Given the description of an element on the screen output the (x, y) to click on. 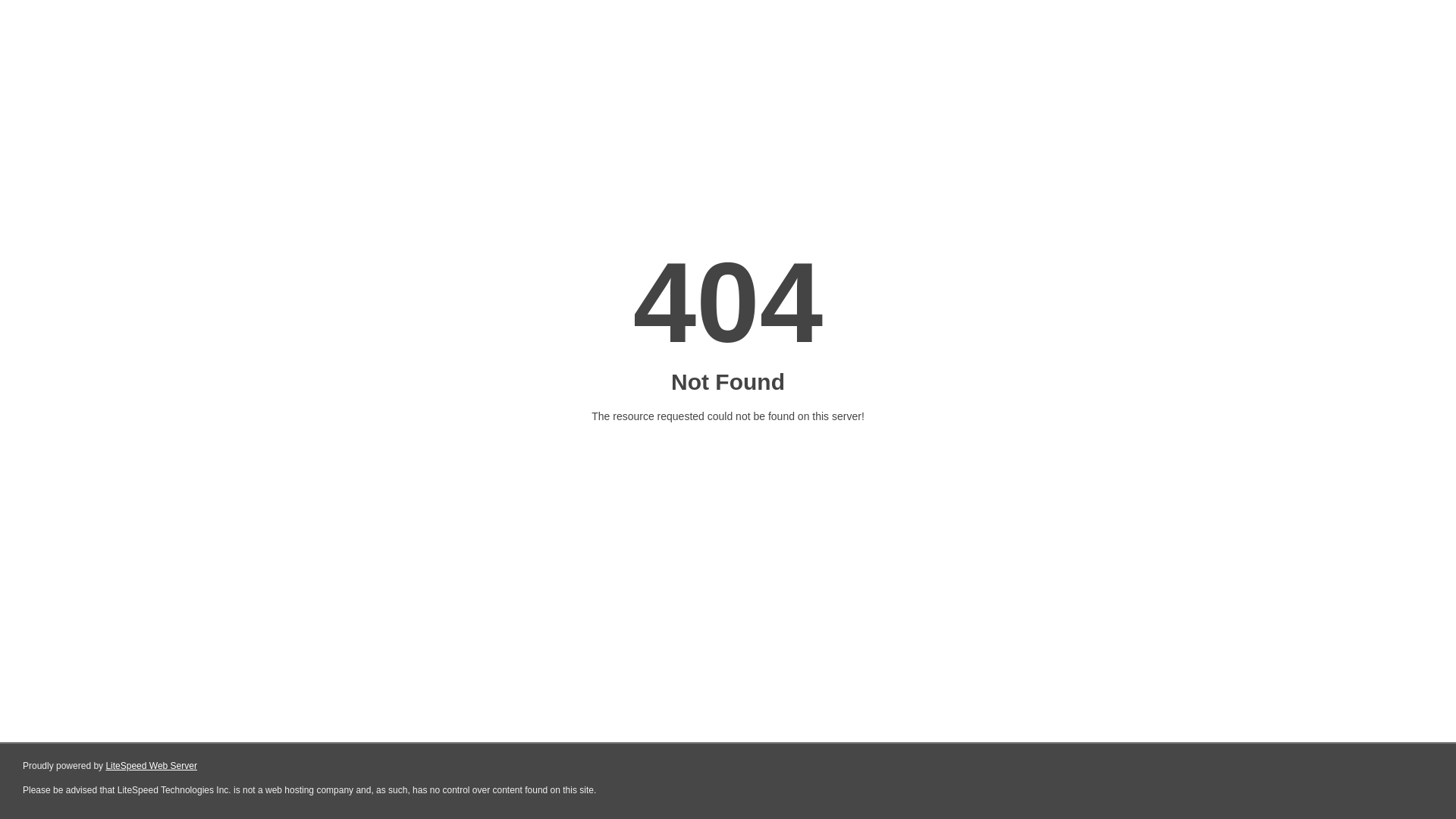
LiteSpeed Web Server Element type: text (151, 765)
